Given the description of an element on the screen output the (x, y) to click on. 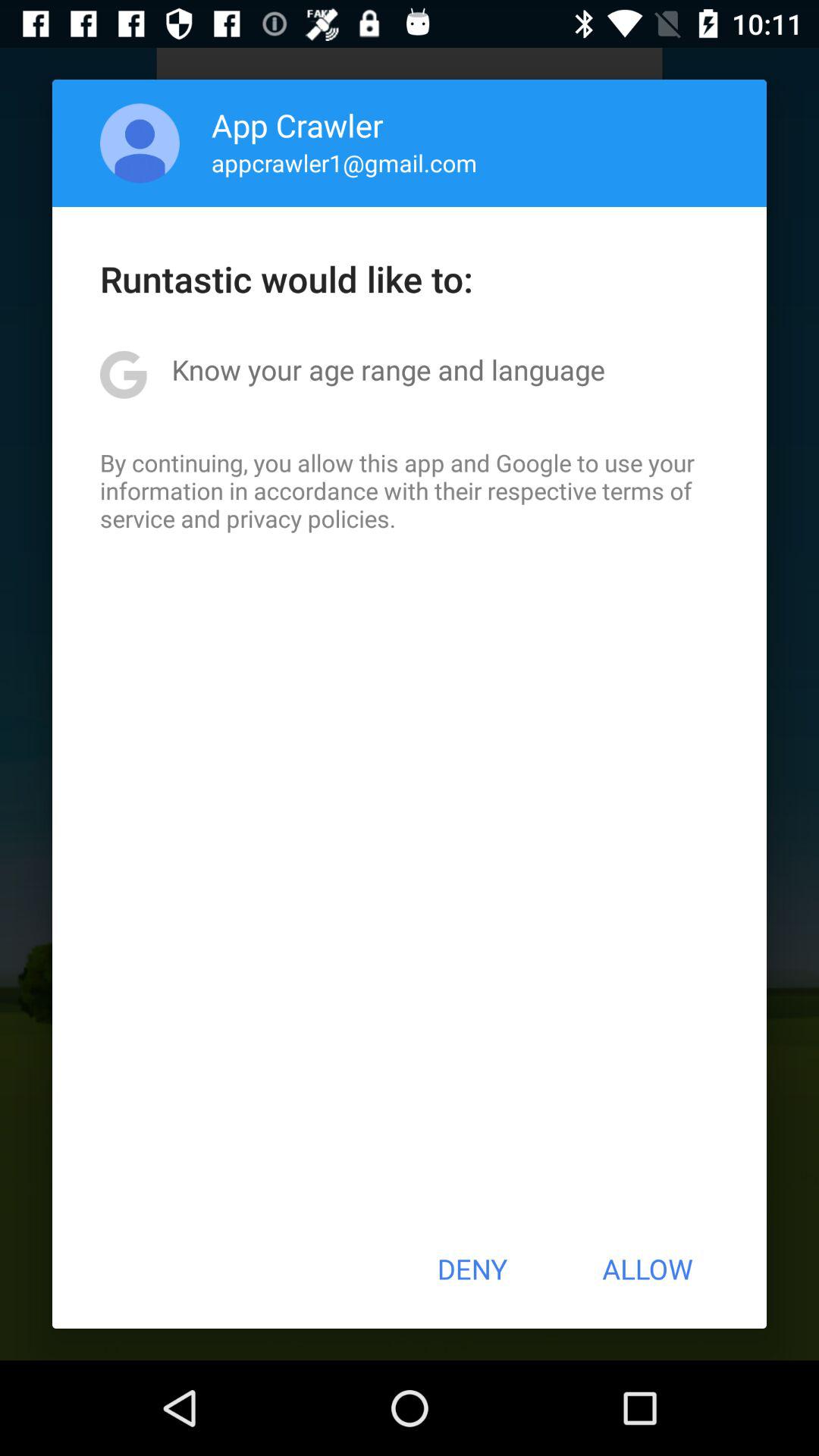
choose icon above appcrawler1@gmail.com icon (297, 124)
